Given the description of an element on the screen output the (x, y) to click on. 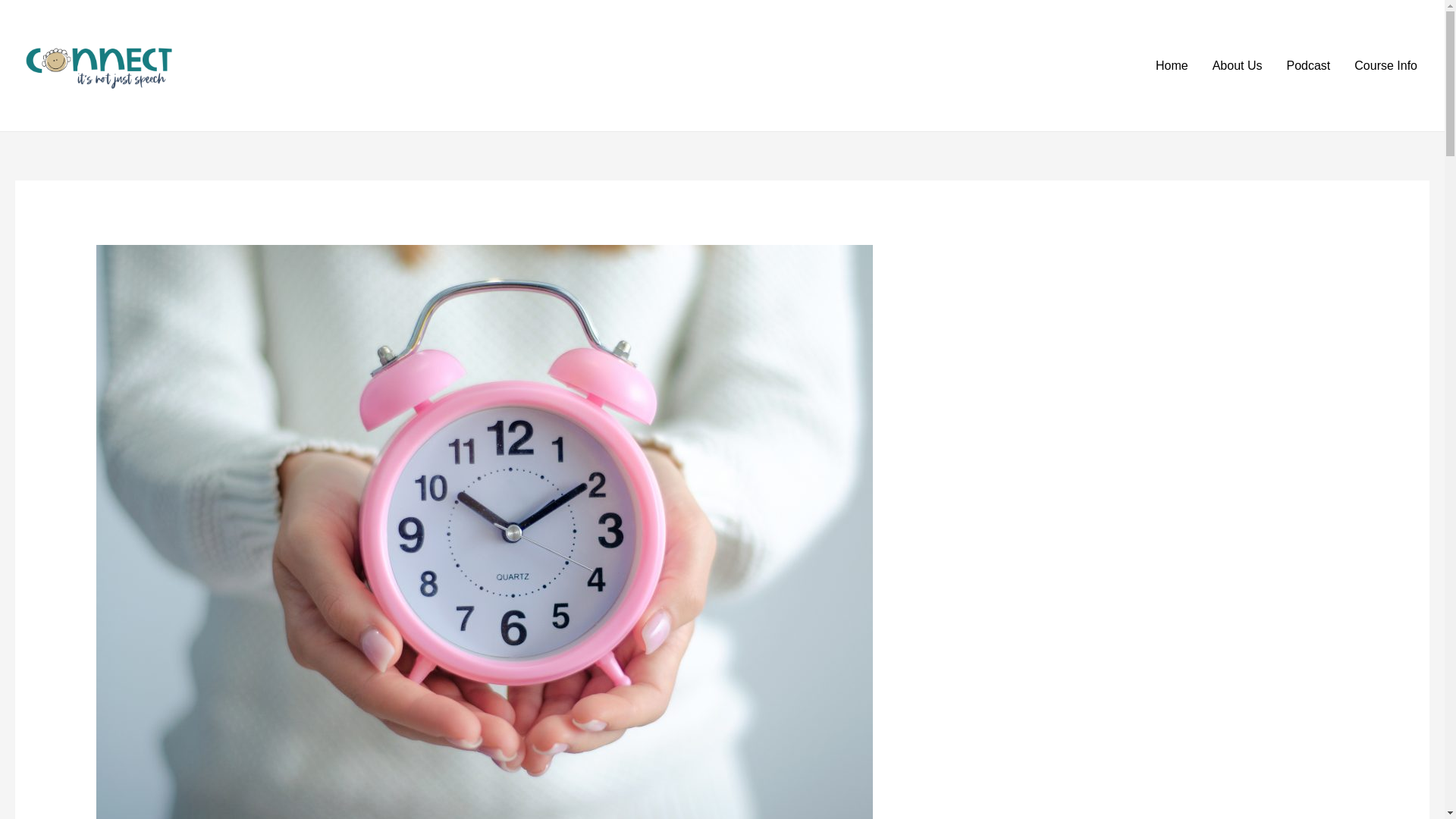
Podcast (1308, 64)
About Us (1237, 64)
Course Info (1385, 64)
Home (1170, 64)
